Given the description of an element on the screen output the (x, y) to click on. 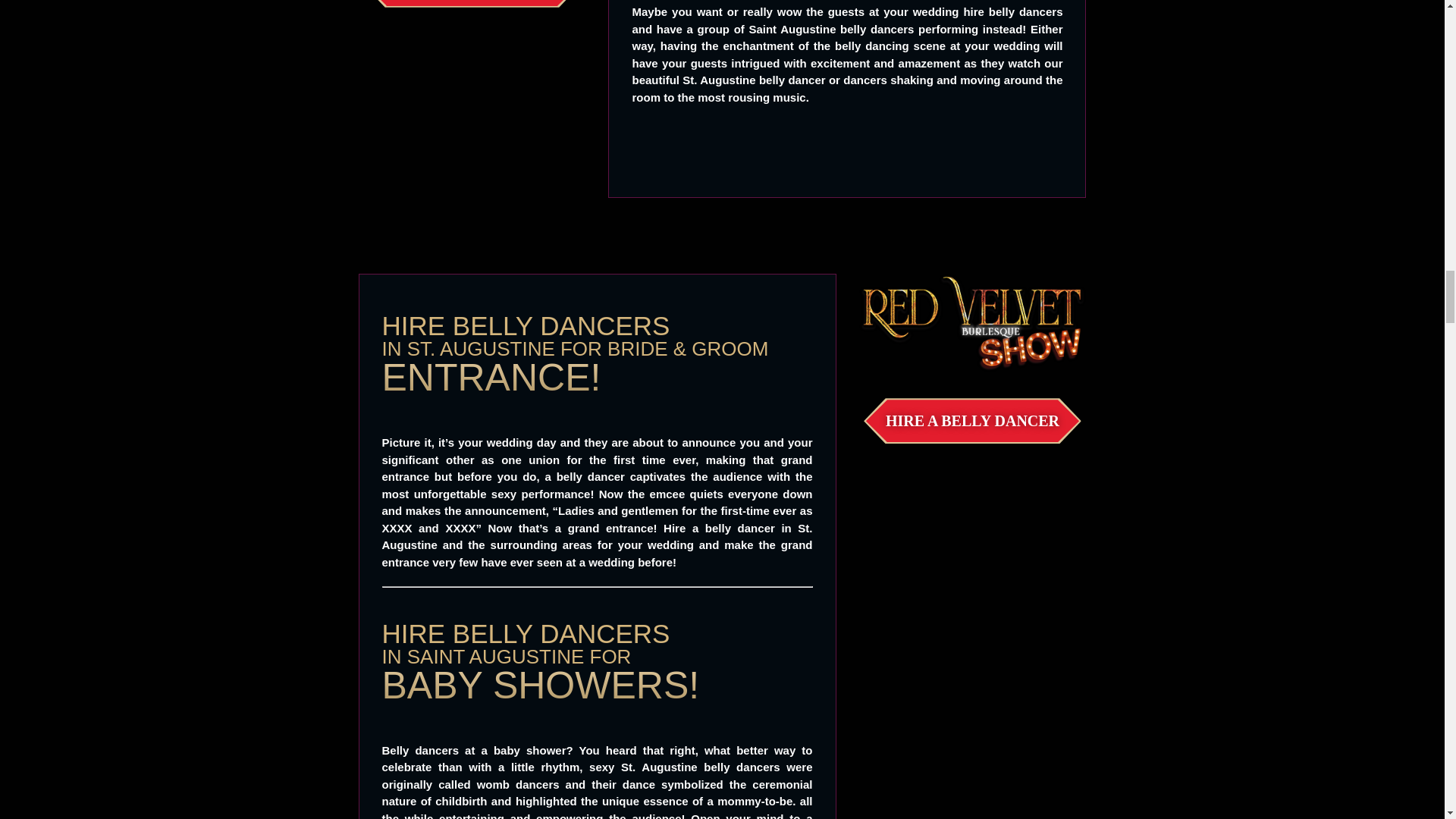
HIRE A BELLY DANCER (471, 2)
HIRE A BELLY DANCER (972, 420)
